Given the description of an element on the screen output the (x, y) to click on. 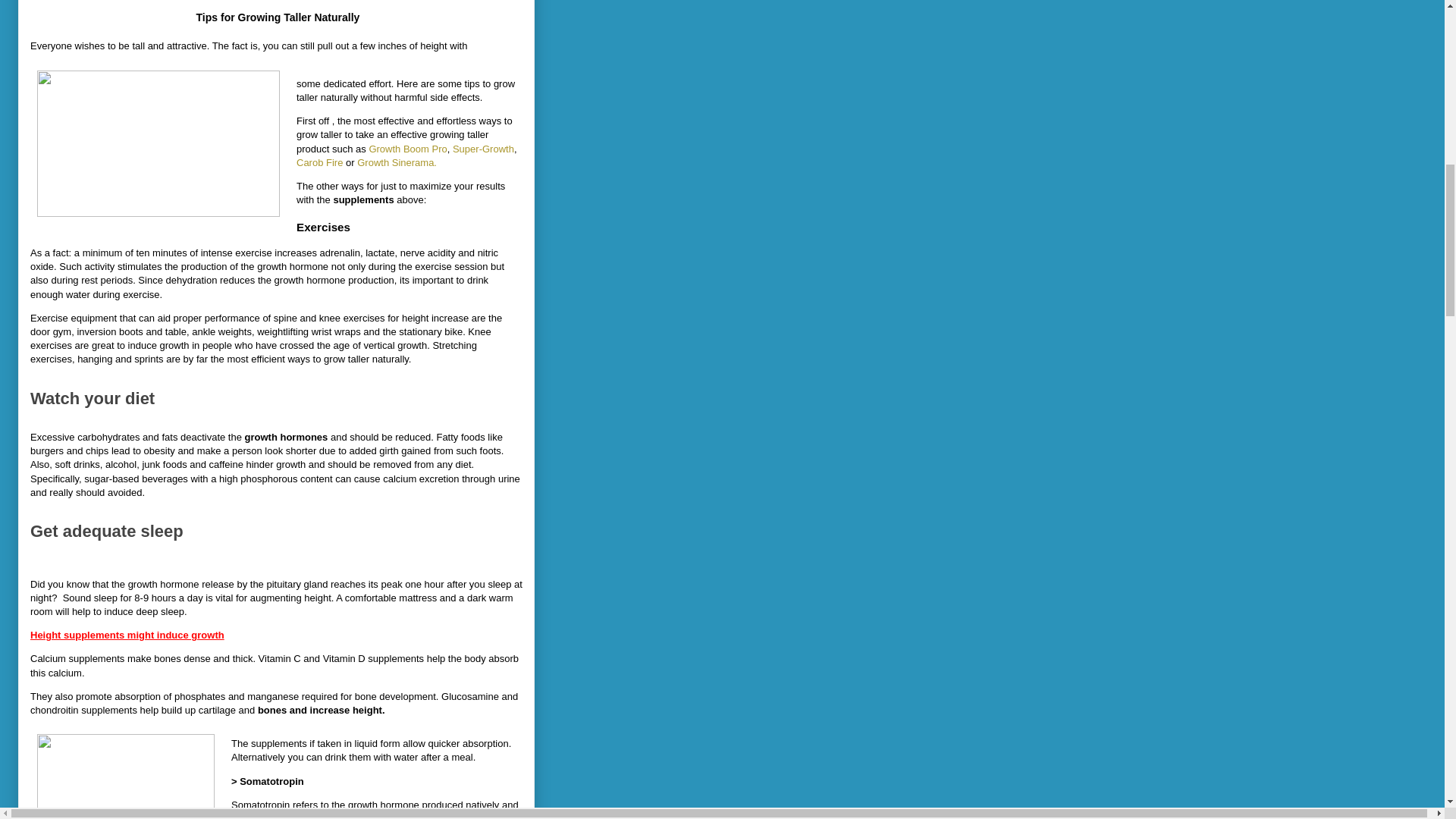
Super-Growth (482, 148)
Carob Fire (319, 162)
Growth Boom Pro (407, 148)
Growth Sinerama. (396, 162)
